Given the description of an element on the screen output the (x, y) to click on. 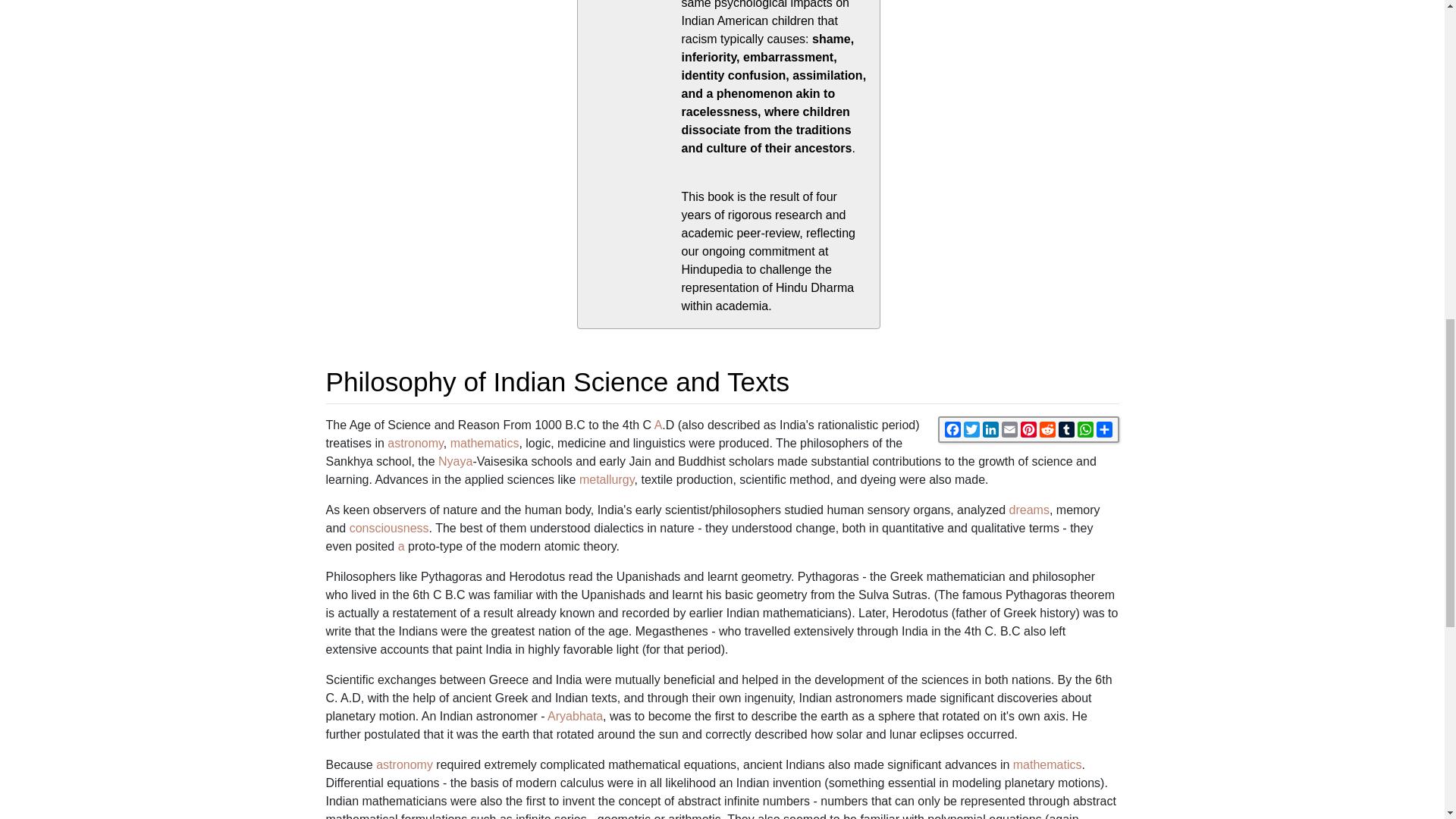
Share (1103, 429)
Astronomy (403, 764)
Twitter (969, 429)
Dreams (1029, 509)
astronomy (415, 442)
Nyaya (454, 461)
Reddit (1046, 429)
Pinterest (1028, 429)
LinkedIn (990, 429)
mathematics (1047, 764)
mathematics (484, 442)
Facebook (952, 429)
WhatsApp (1084, 429)
metallurgy (606, 479)
consciousness (389, 527)
